Given the description of an element on the screen output the (x, y) to click on. 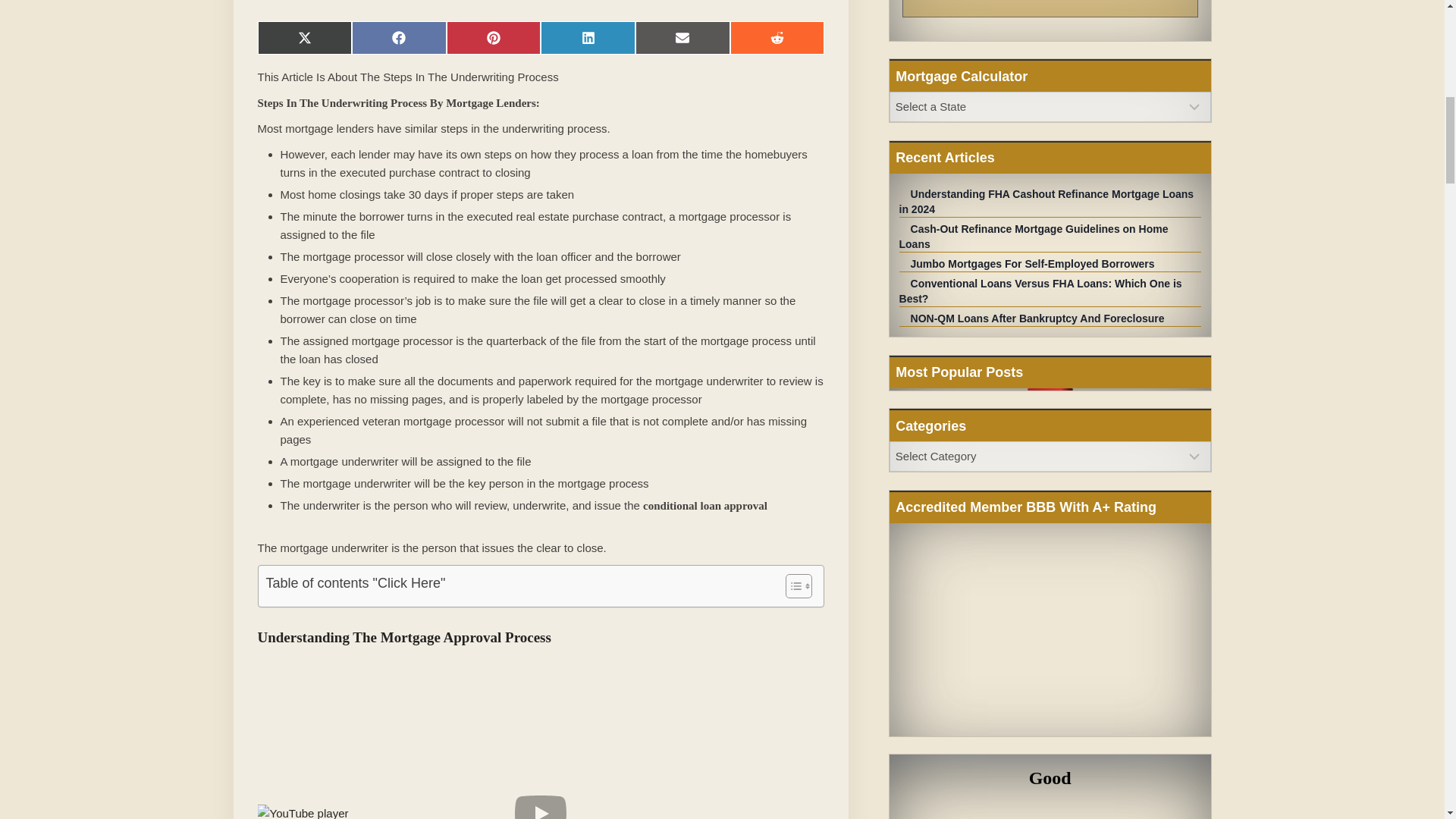
Submit (1050, 8)
Steps In The Underwriting Process By Mortgage Lenders 2 (541, 811)
